Given the description of an element on the screen output the (x, y) to click on. 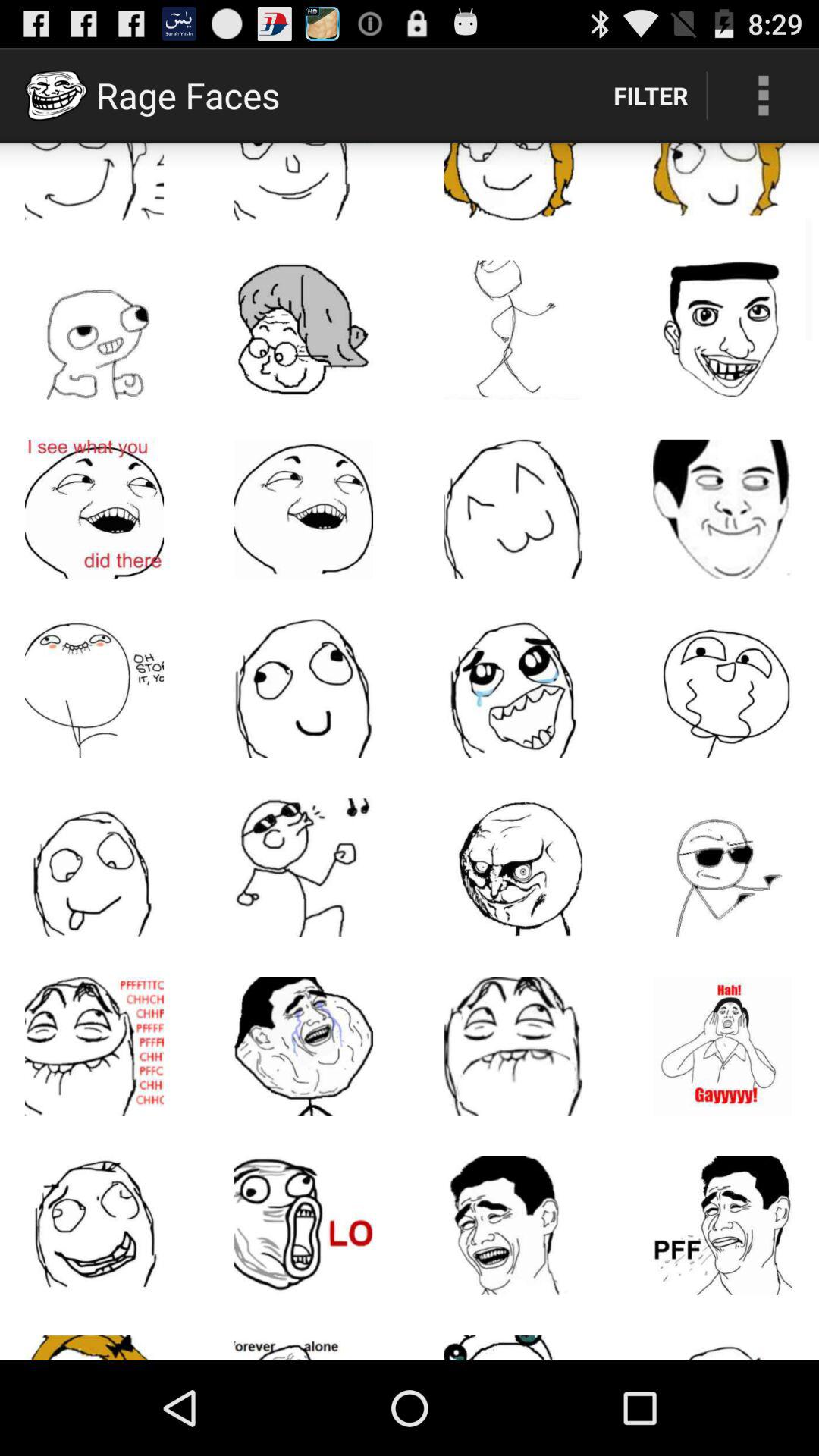
click item next to the filter icon (763, 95)
